Given the description of an element on the screen output the (x, y) to click on. 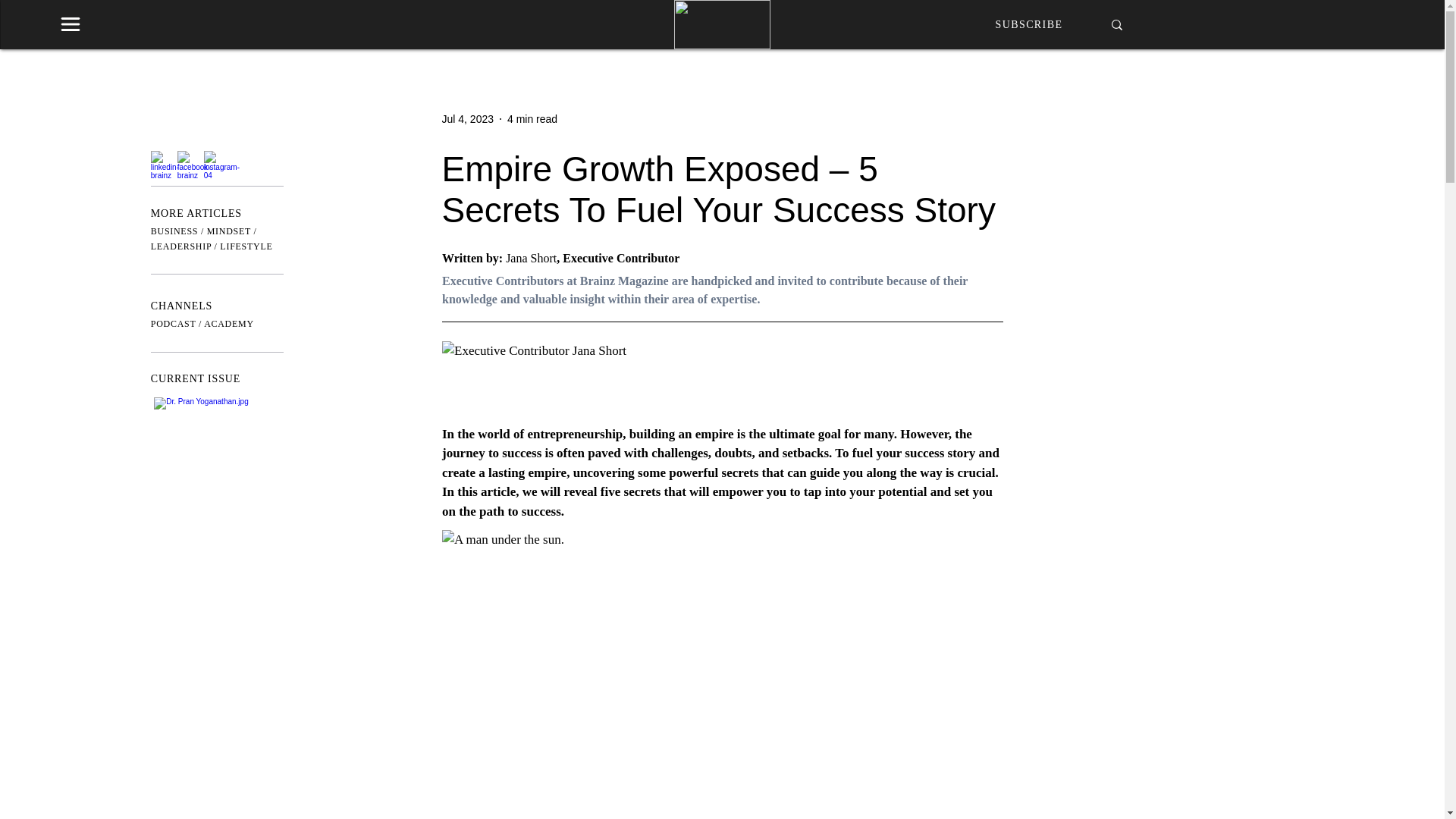
SUBSCRIBE (1028, 23)
MORE ARTICLES (196, 213)
Jul 4, 2023 (467, 118)
4 min read (531, 118)
ACADEMY (228, 323)
PODCAST (173, 323)
LIFESTYLE (245, 245)
MINDSET (228, 231)
BUSINESS (174, 231)
LEADERSHIP (181, 245)
